Given the description of an element on the screen output the (x, y) to click on. 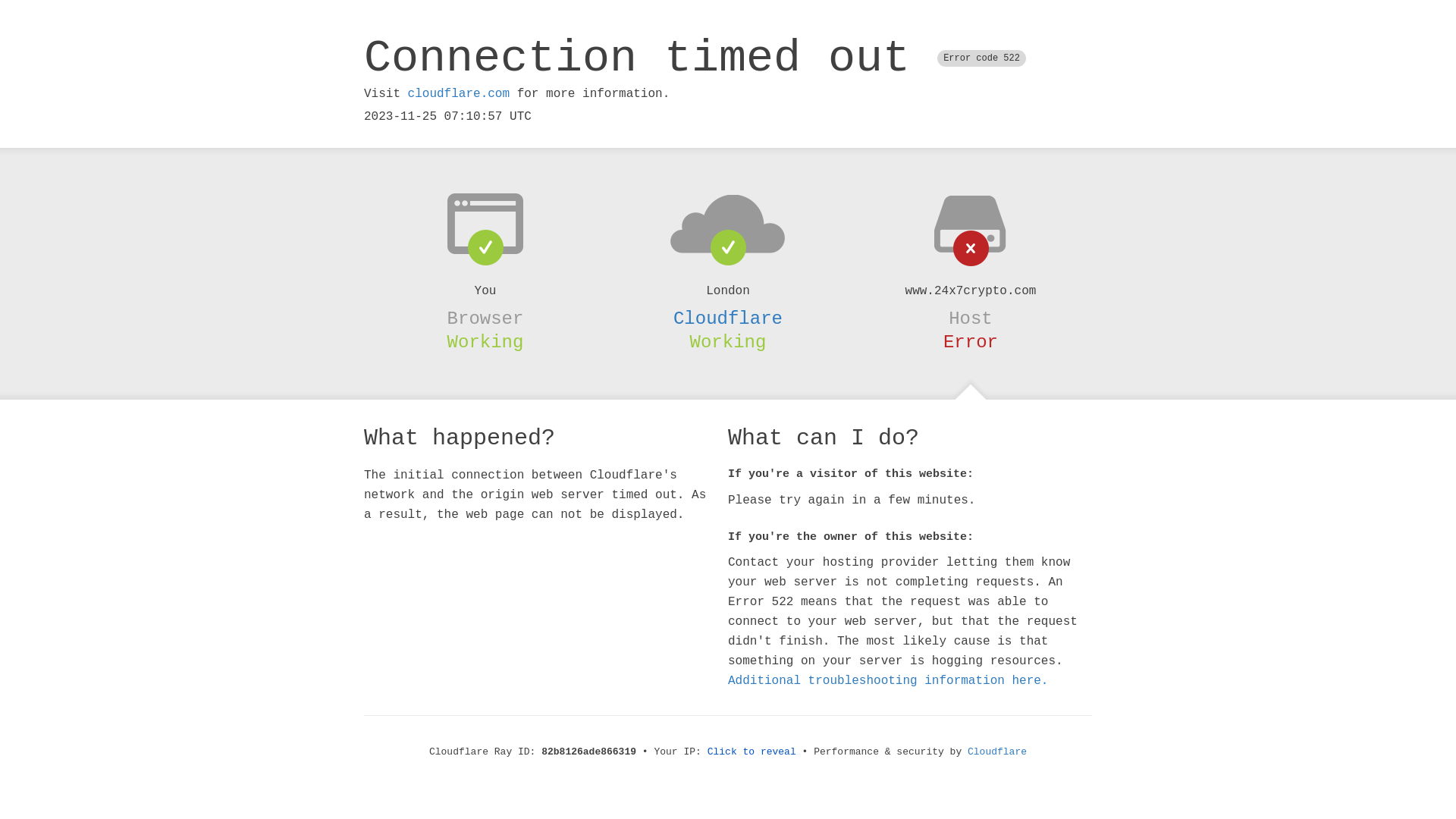
Cloudflare Element type: text (996, 751)
cloudflare.com Element type: text (458, 93)
Additional troubleshooting information here. Element type: text (888, 680)
Click to reveal Element type: text (751, 751)
Cloudflare Element type: text (727, 318)
